Given the description of an element on the screen output the (x, y) to click on. 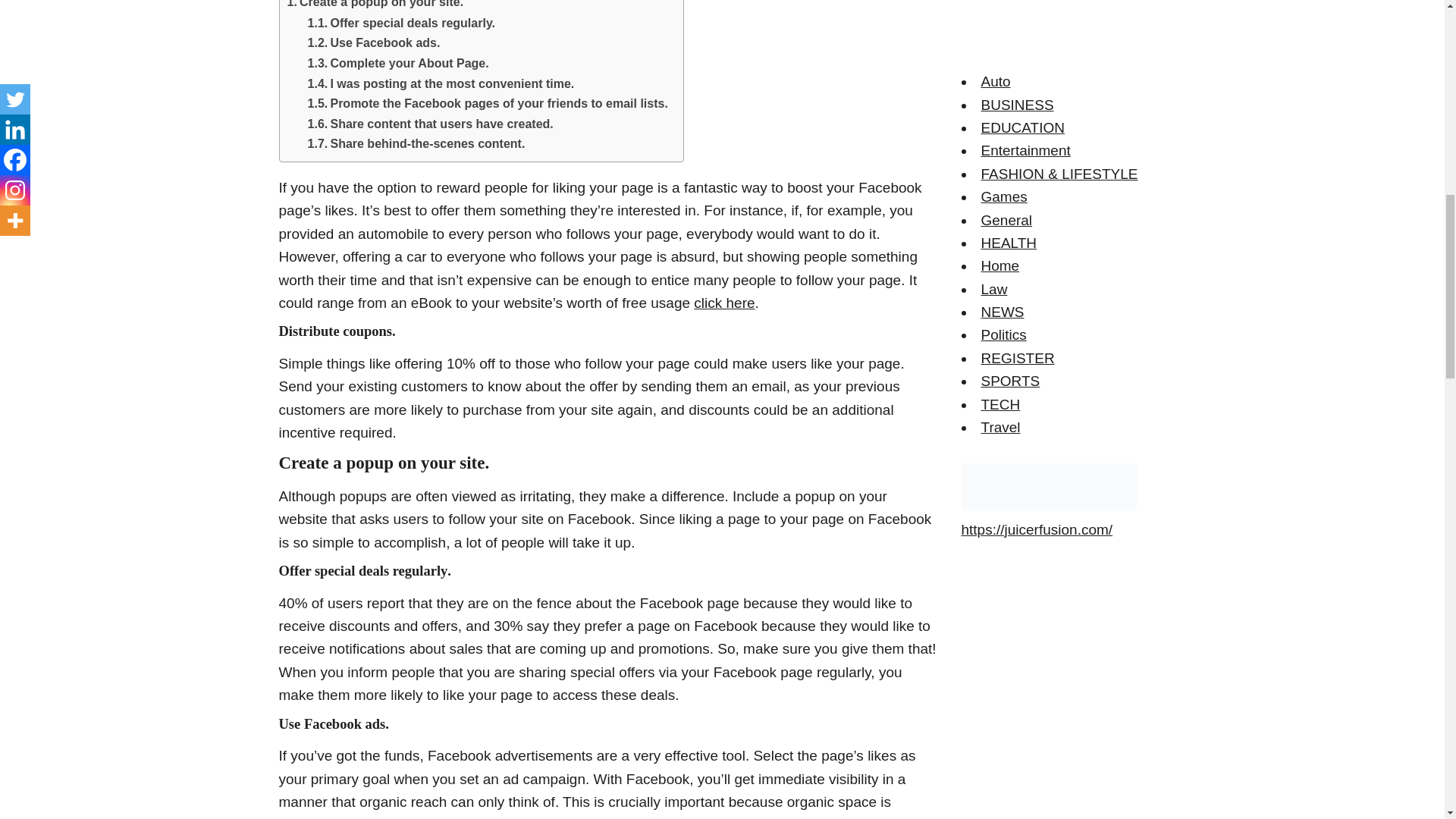
I was posting at the most convenient time. (441, 84)
click here (724, 302)
Create a popup on your site. (374, 6)
Use Facebook ads. (374, 43)
Share content that users have created. (430, 124)
Share behind-the-scenes content. (416, 143)
Complete your About Page. (398, 63)
Share content that users have created. (430, 124)
Promote the Facebook pages of your friends to email lists. (487, 103)
Use Facebook ads. (374, 43)
Promote the Facebook pages of your friends to email lists. (487, 103)
Complete your About Page. (398, 63)
Offer special deals regularly. (401, 23)
Create a popup on your site. (374, 6)
I was posting at the most convenient time. (441, 84)
